Given the description of an element on the screen output the (x, y) to click on. 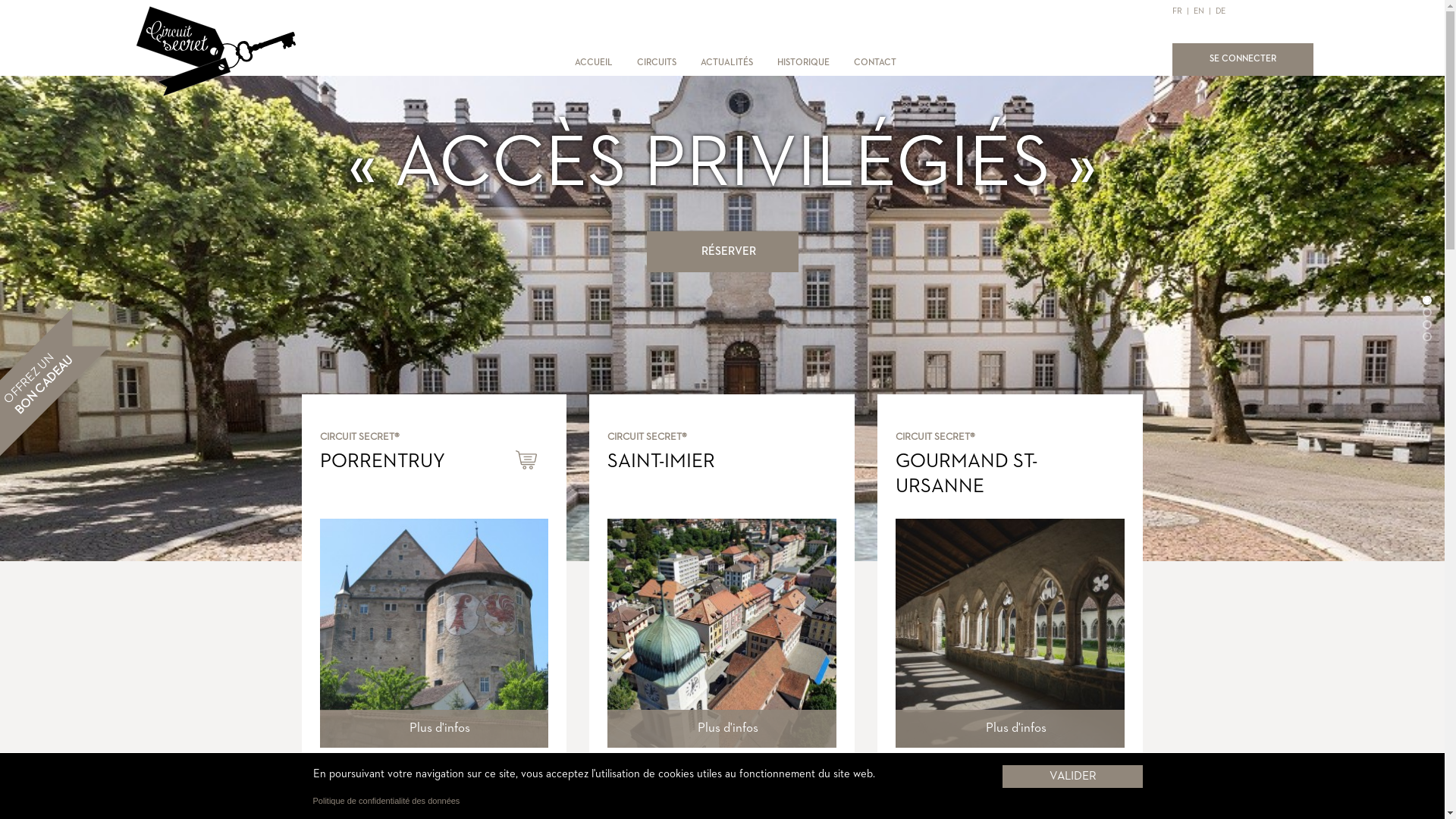
FR Element type: text (1178, 10)
Plus d'infos Element type: text (434, 728)
CIRCUITS Element type: text (656, 62)
DE Element type: text (1219, 10)
VALIDER Element type: text (1072, 775)
SE CONNECTER
(current) Element type: text (1242, 59)
EN Element type: text (1198, 10)
HISTORIQUE Element type: text (803, 62)
ACCUEIL Element type: text (593, 62)
CONTACT Element type: text (874, 62)
Plus d'infos Element type: text (721, 728)
Plus d'infos Element type: text (1009, 728)
